Given the description of an element on the screen output the (x, y) to click on. 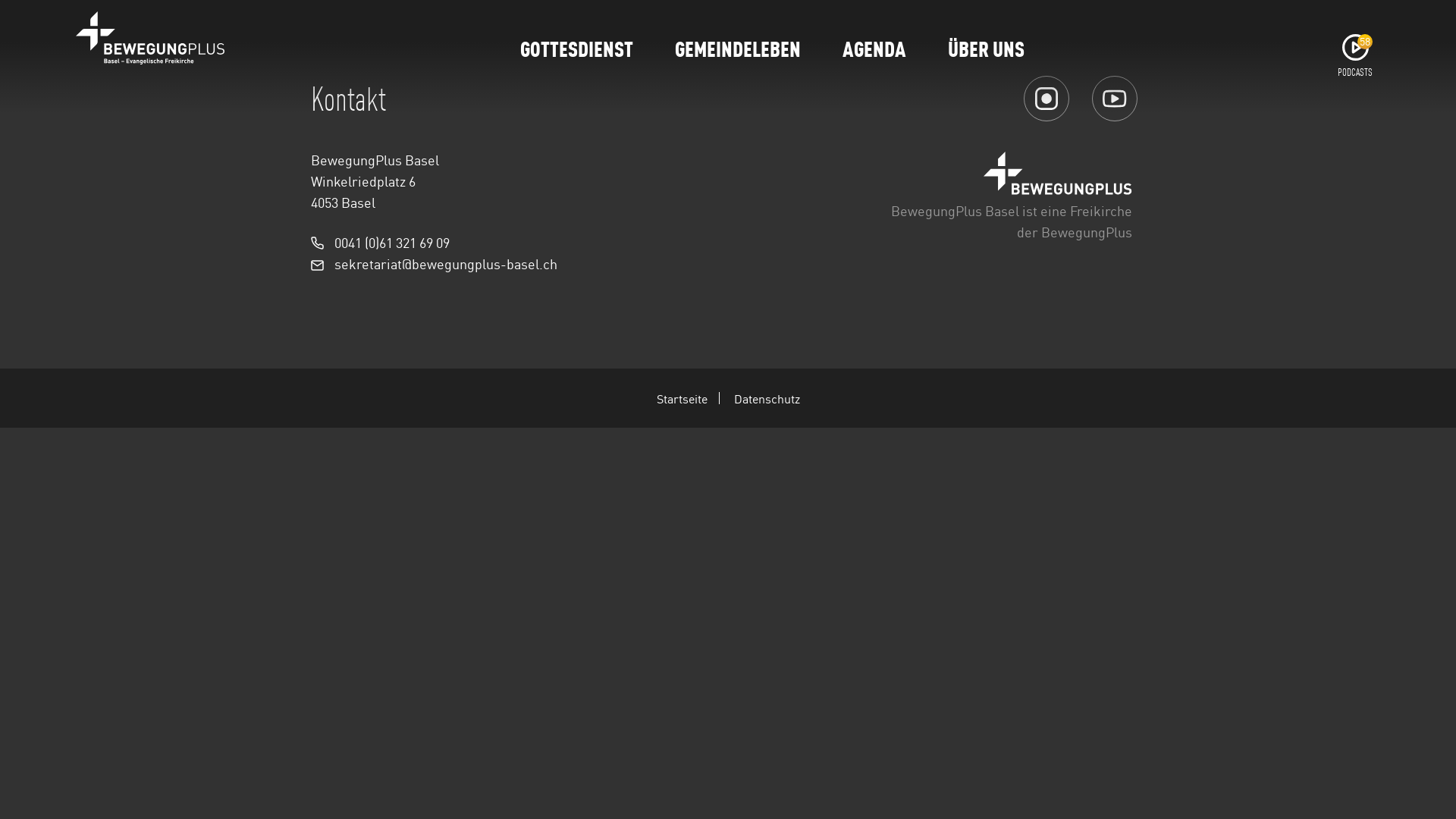
Datenschutz Element type: text (767, 398)
Startseite Element type: text (687, 398)
sekretariat@bewegungplus-basel.ch Element type: text (445, 263)
0041 (0)61 321 69 09 Element type: text (391, 241)
